Given the description of an element on the screen output the (x, y) to click on. 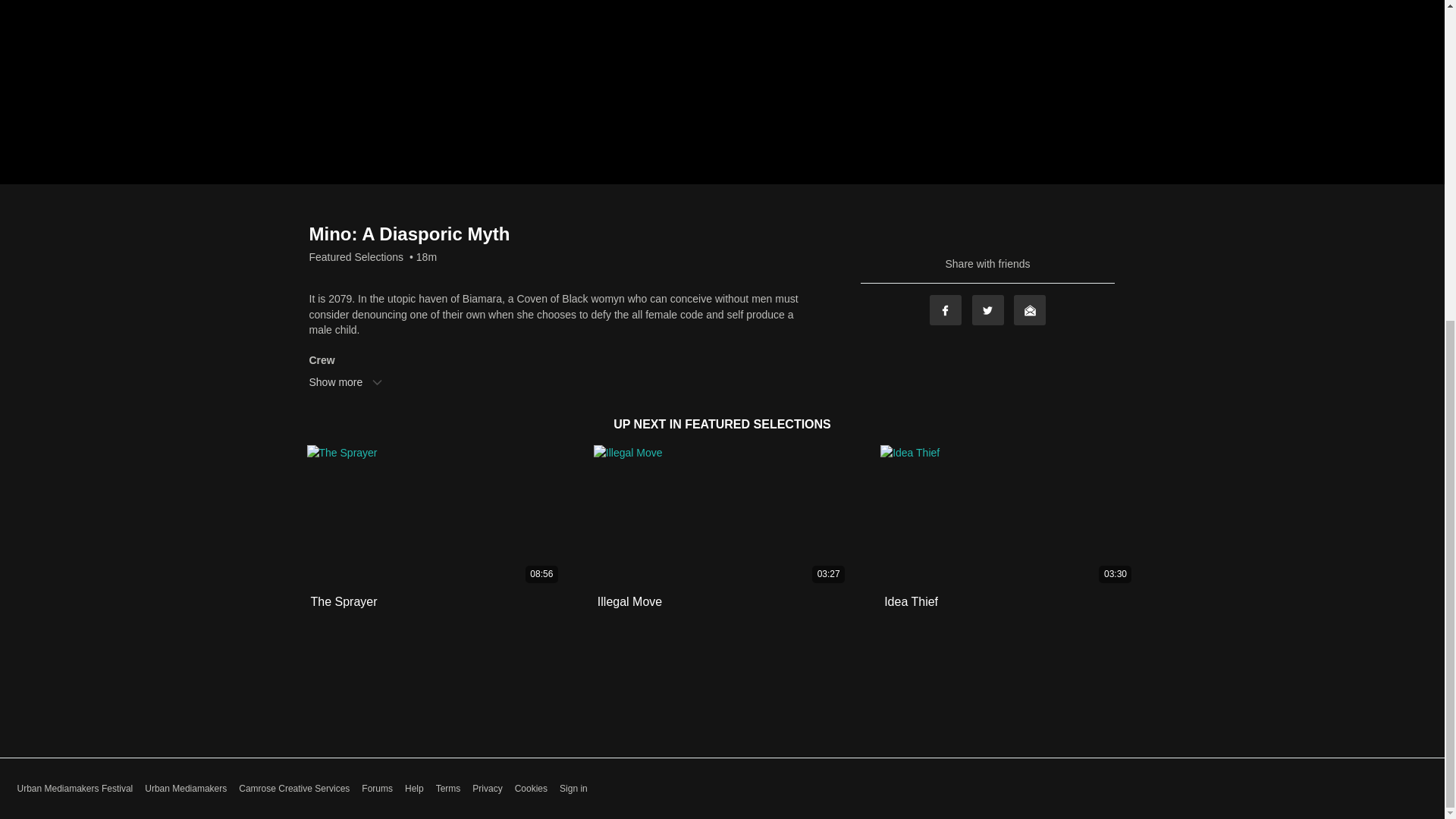
Email (1029, 309)
Sign in (573, 788)
Privacy (486, 788)
Cookies (531, 788)
08:56 (434, 516)
Twitter (988, 309)
Illegal Move (629, 601)
Camrose Creative Services (293, 788)
Forums (377, 788)
Featured Selections (356, 256)
The Sprayer (344, 601)
Facebook (945, 309)
03:30 (1008, 516)
Illegal Move (629, 602)
Idea Thief (910, 602)
